Given the description of an element on the screen output the (x, y) to click on. 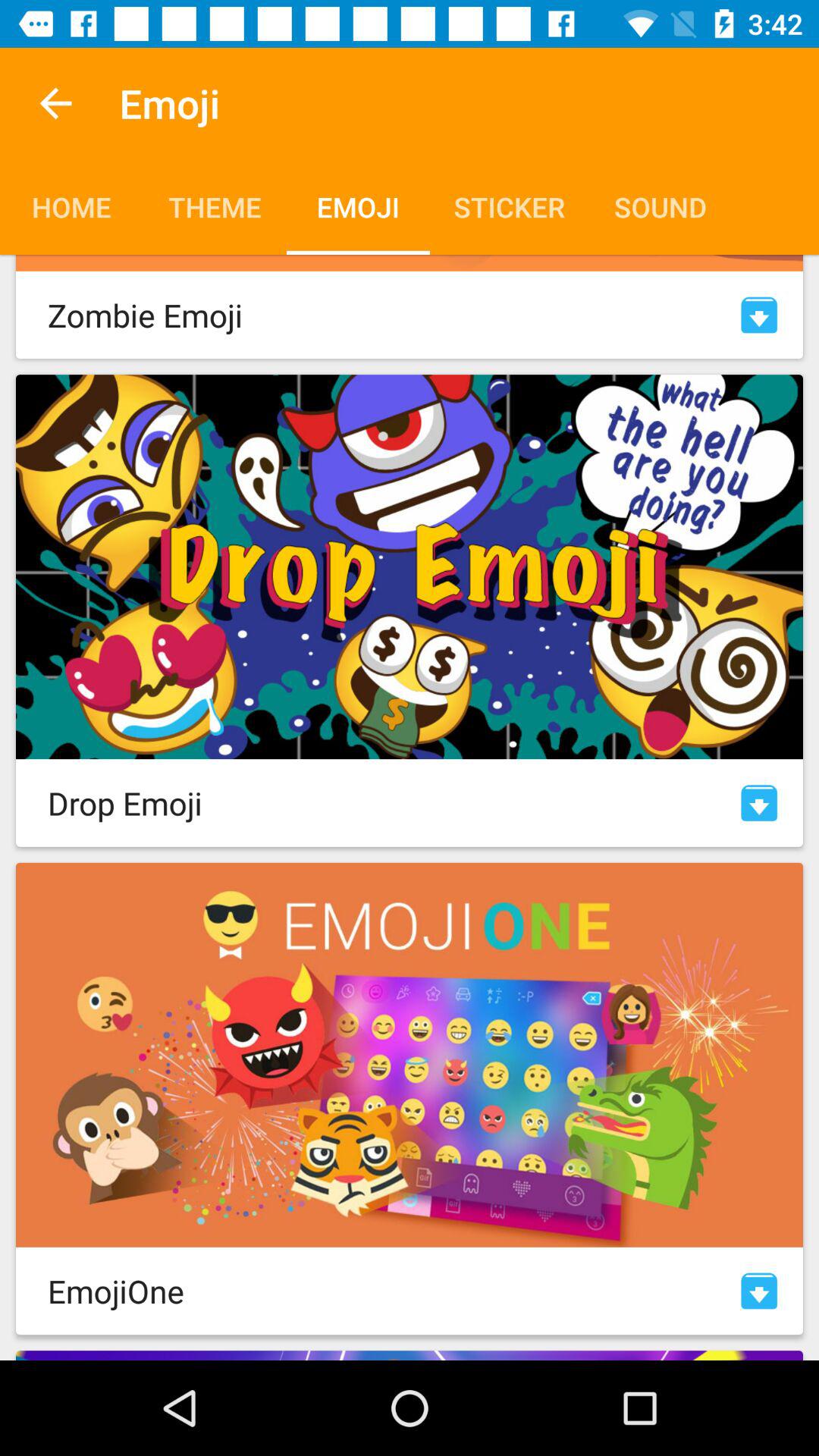
click icon next to the emoji icon (55, 103)
